Given the description of an element on the screen output the (x, y) to click on. 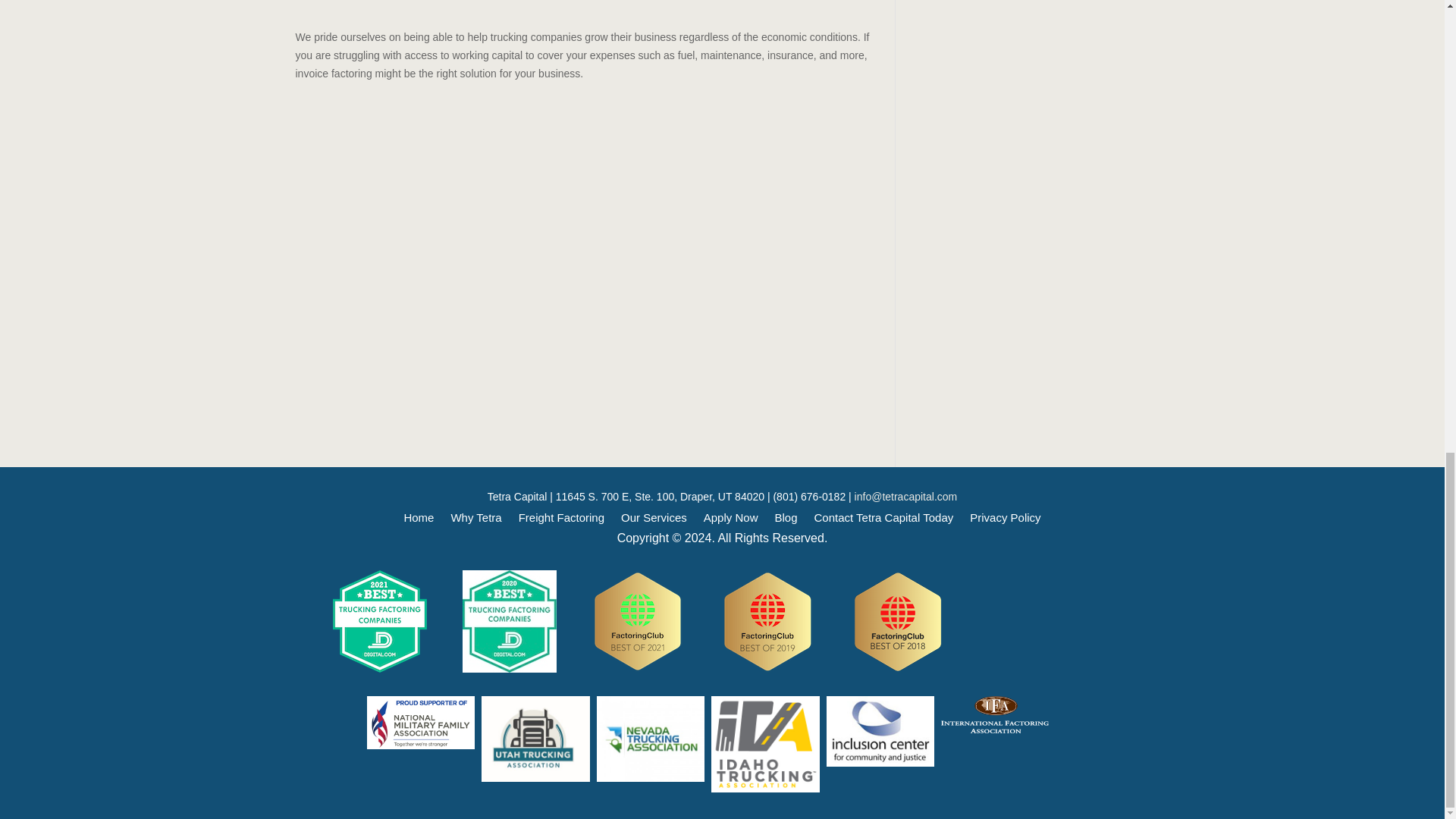
Why Tetra (474, 520)
Home (418, 520)
2019 Best truck factoring company (767, 621)
